Given the description of an element on the screen output the (x, y) to click on. 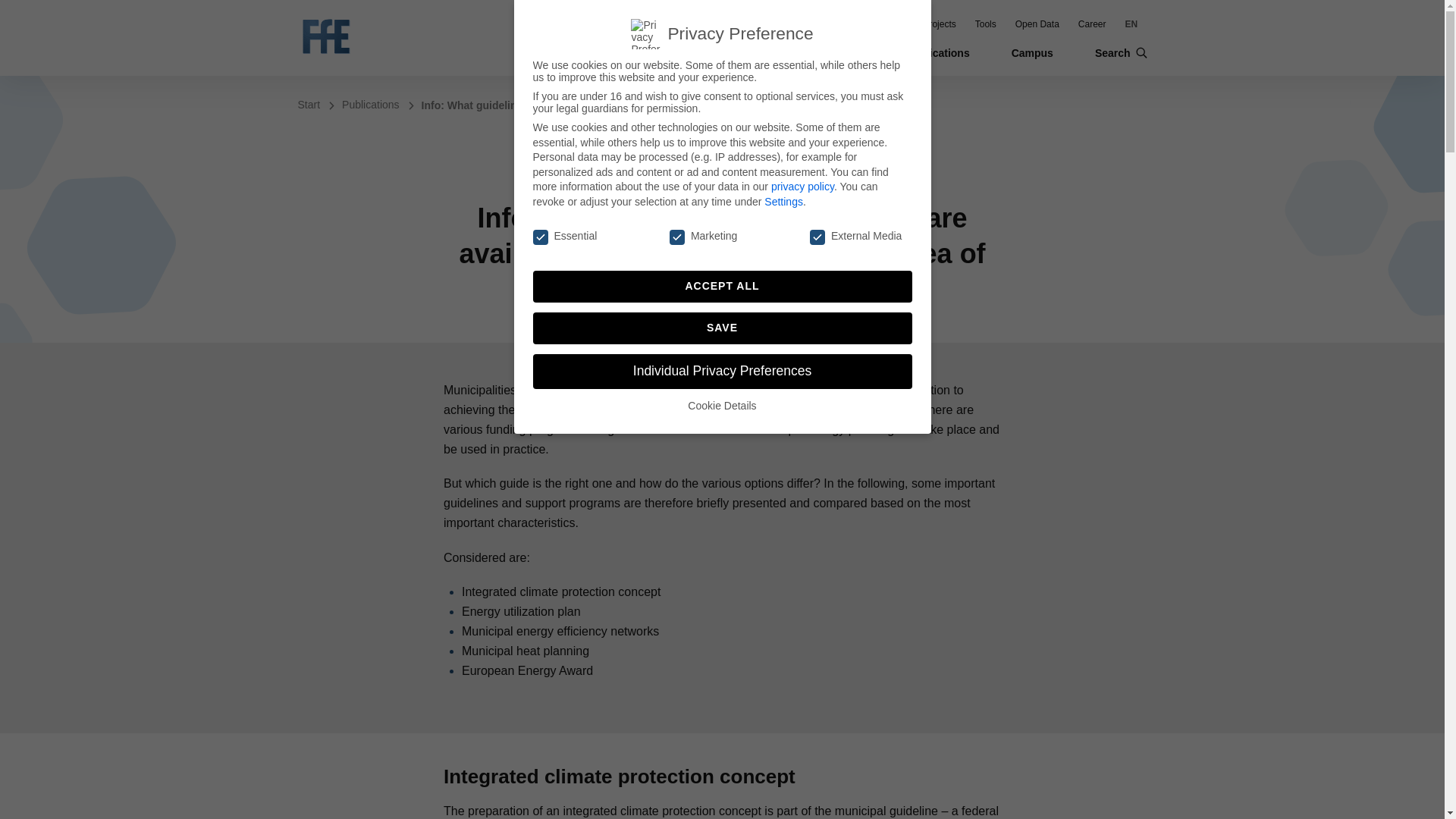
Campus (1031, 52)
About Us (765, 52)
Publications (937, 52)
Open Data (1036, 24)
Solutions (885, 24)
FfE-News (762, 24)
Topics (847, 52)
References (824, 24)
Career (1092, 24)
Projects (939, 24)
